Given the description of an element on the screen output the (x, y) to click on. 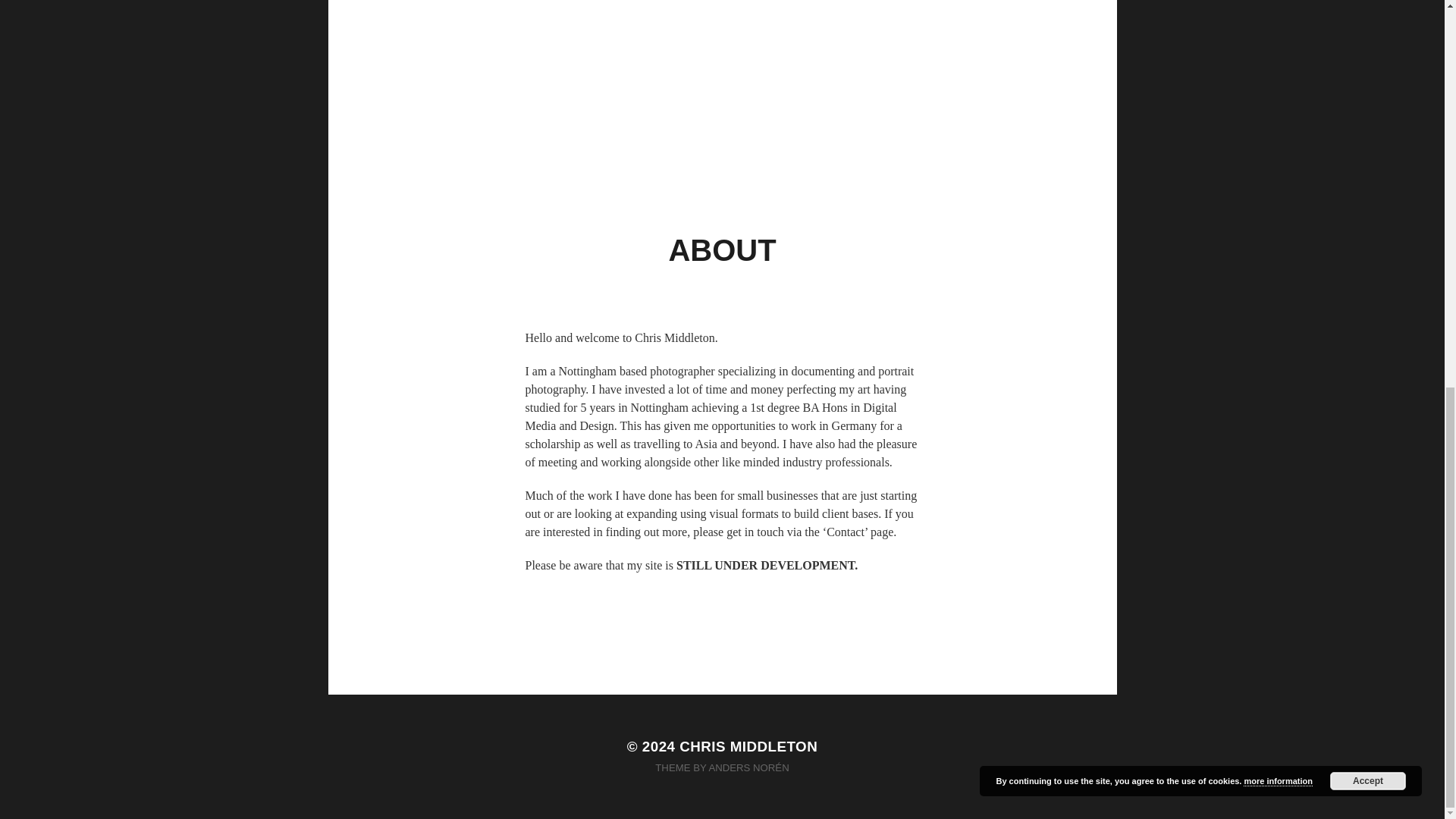
CHRIS MIDDLETON (747, 746)
Accept (1368, 46)
more information (1277, 47)
